Given the description of an element on the screen output the (x, y) to click on. 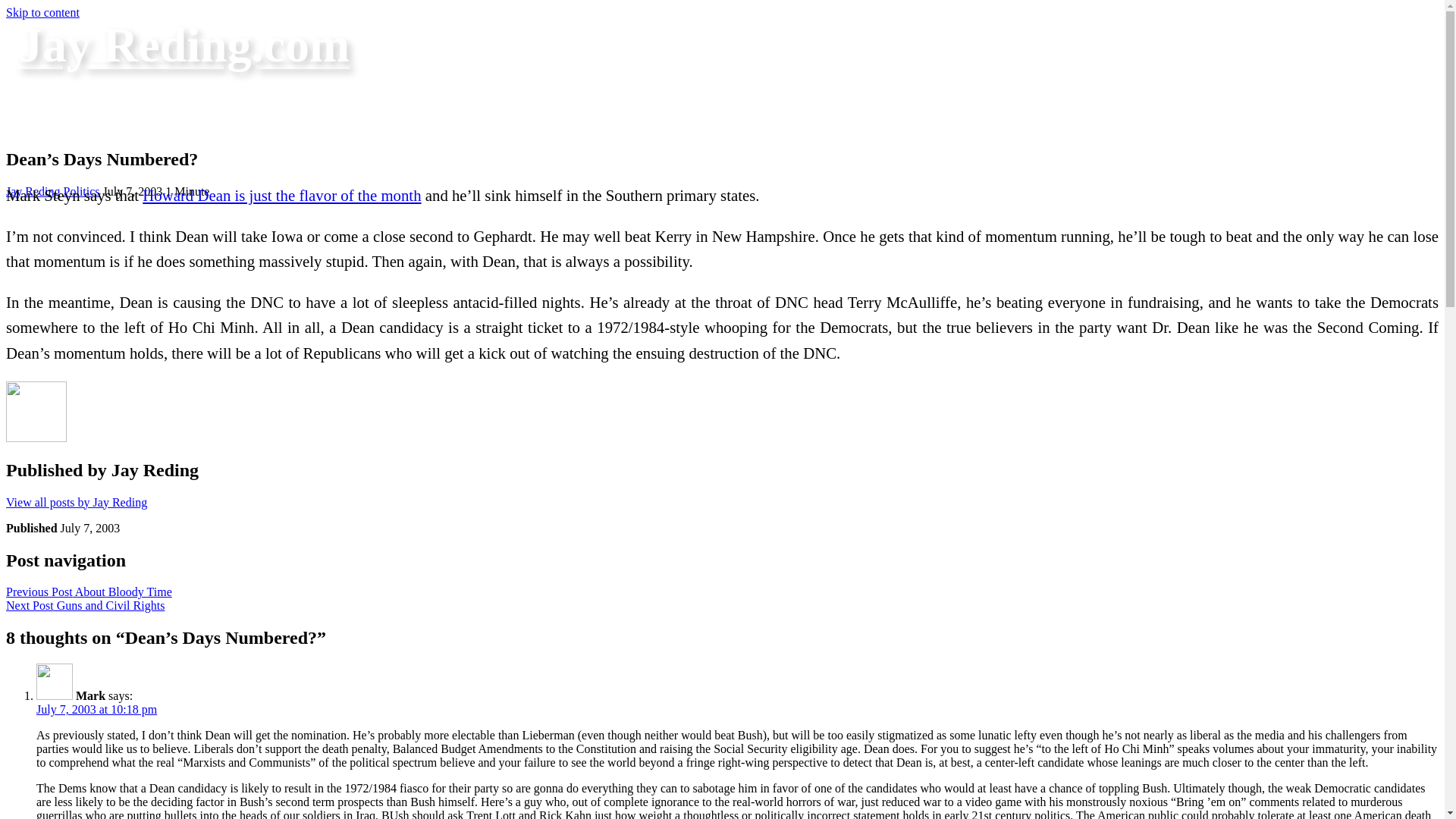
Next Post Guns and Civil Rights (84, 604)
View all posts by Jay Reding (76, 502)
Politics (82, 191)
Jay Reding.com (183, 45)
July 7, 2003 at 10:18 pm (96, 708)
Howard Dean is just the flavor of the month (281, 194)
Posts by Jay Reding (33, 191)
Jay Reding (33, 191)
Skip to content (42, 11)
Previous Post About Bloody Time (88, 591)
